Given the description of an element on the screen output the (x, y) to click on. 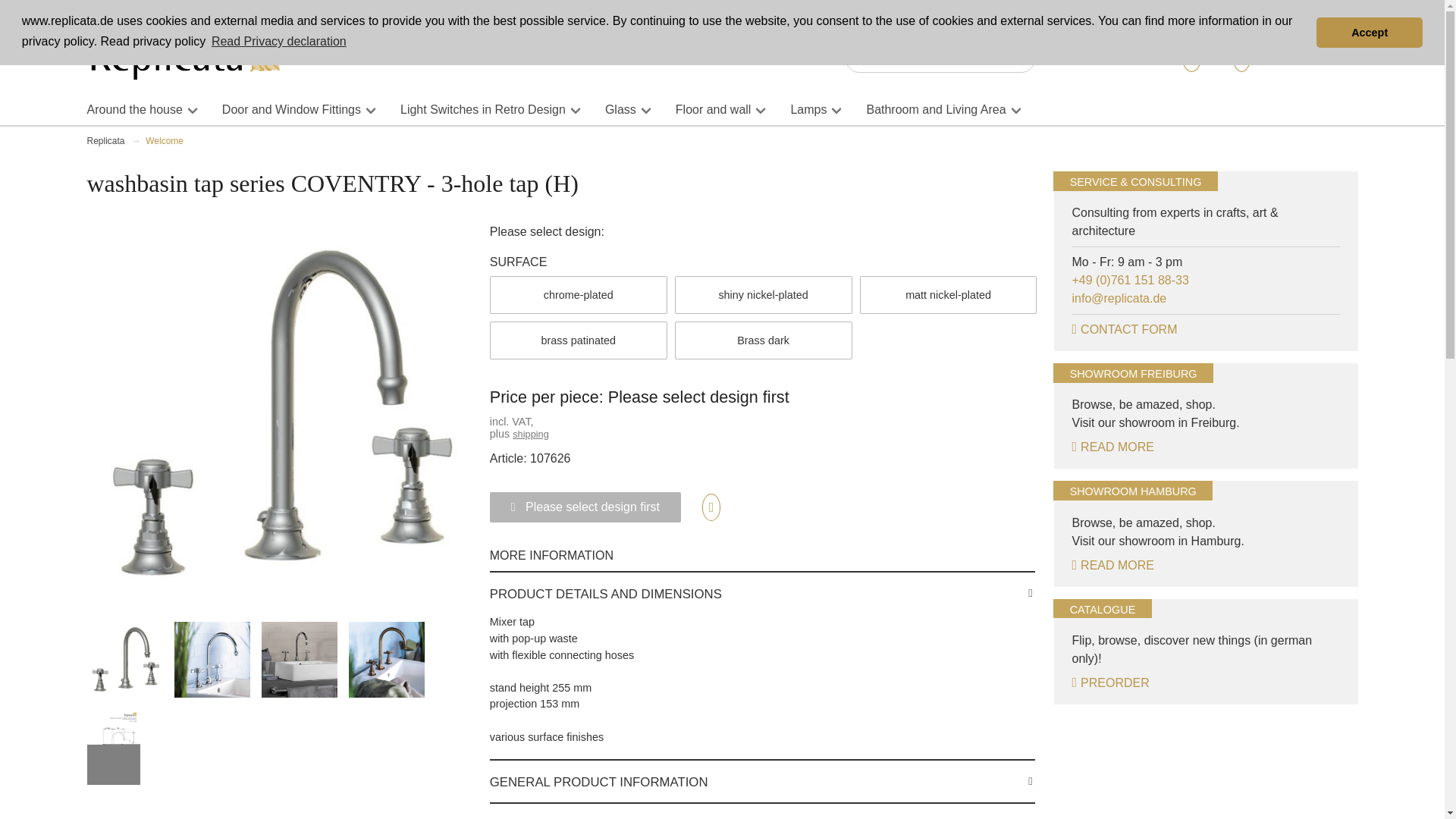
Accept (1369, 32)
Around the house (133, 109)
Door and Window Fittings (291, 109)
Read Privacy declaration (279, 41)
Glass (620, 109)
Light Switches in Retro Design (483, 109)
